Given the description of an element on the screen output the (x, y) to click on. 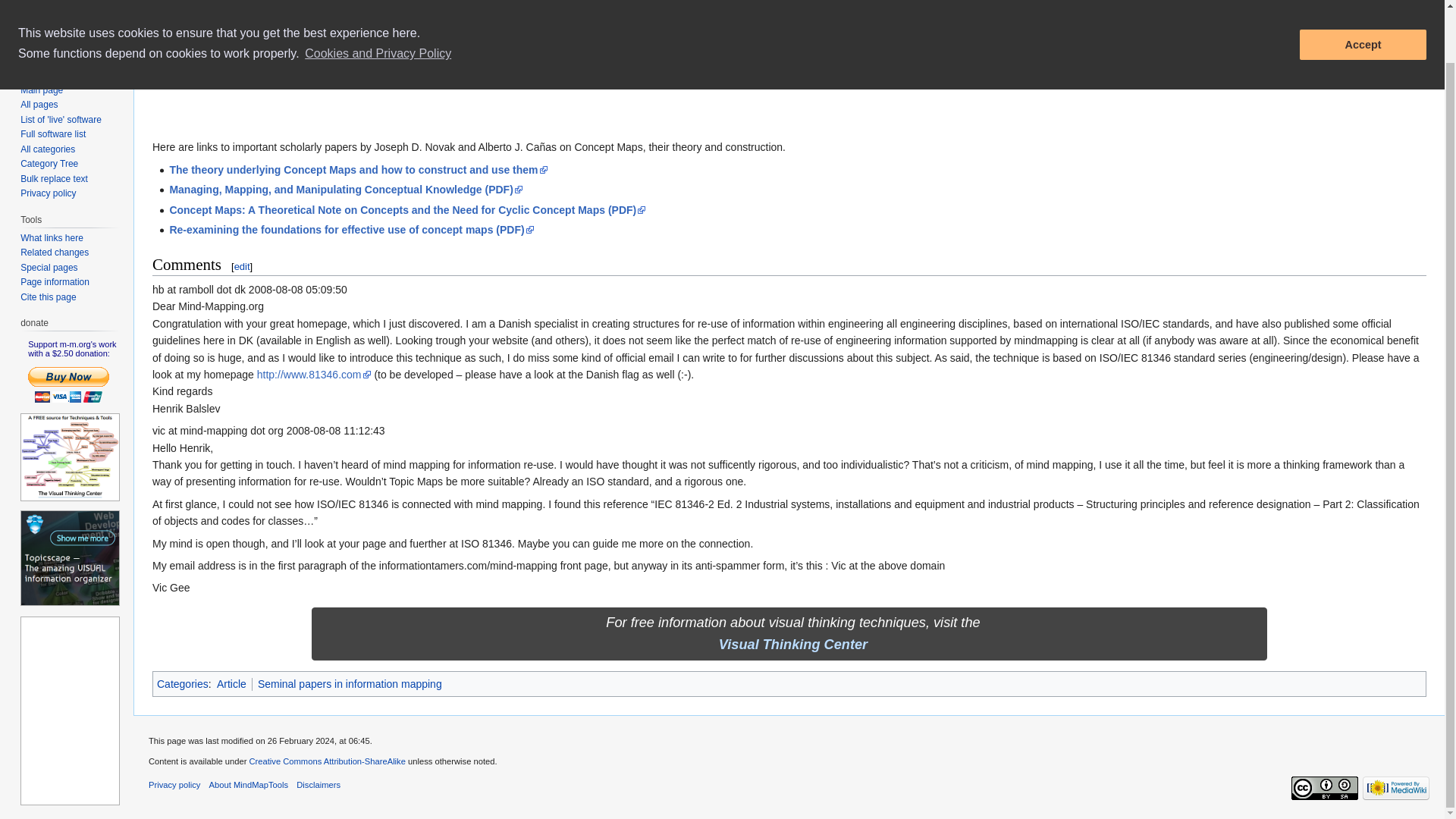
Edit section: Comments (242, 266)
Advertisement (428, 94)
edit (242, 266)
View source (1085, 2)
List of 'live' software (60, 119)
Page (150, 2)
Discussion (198, 2)
What links here (51, 237)
Full software list (52, 133)
View history (1150, 2)
